Given the description of an element on the screen output the (x, y) to click on. 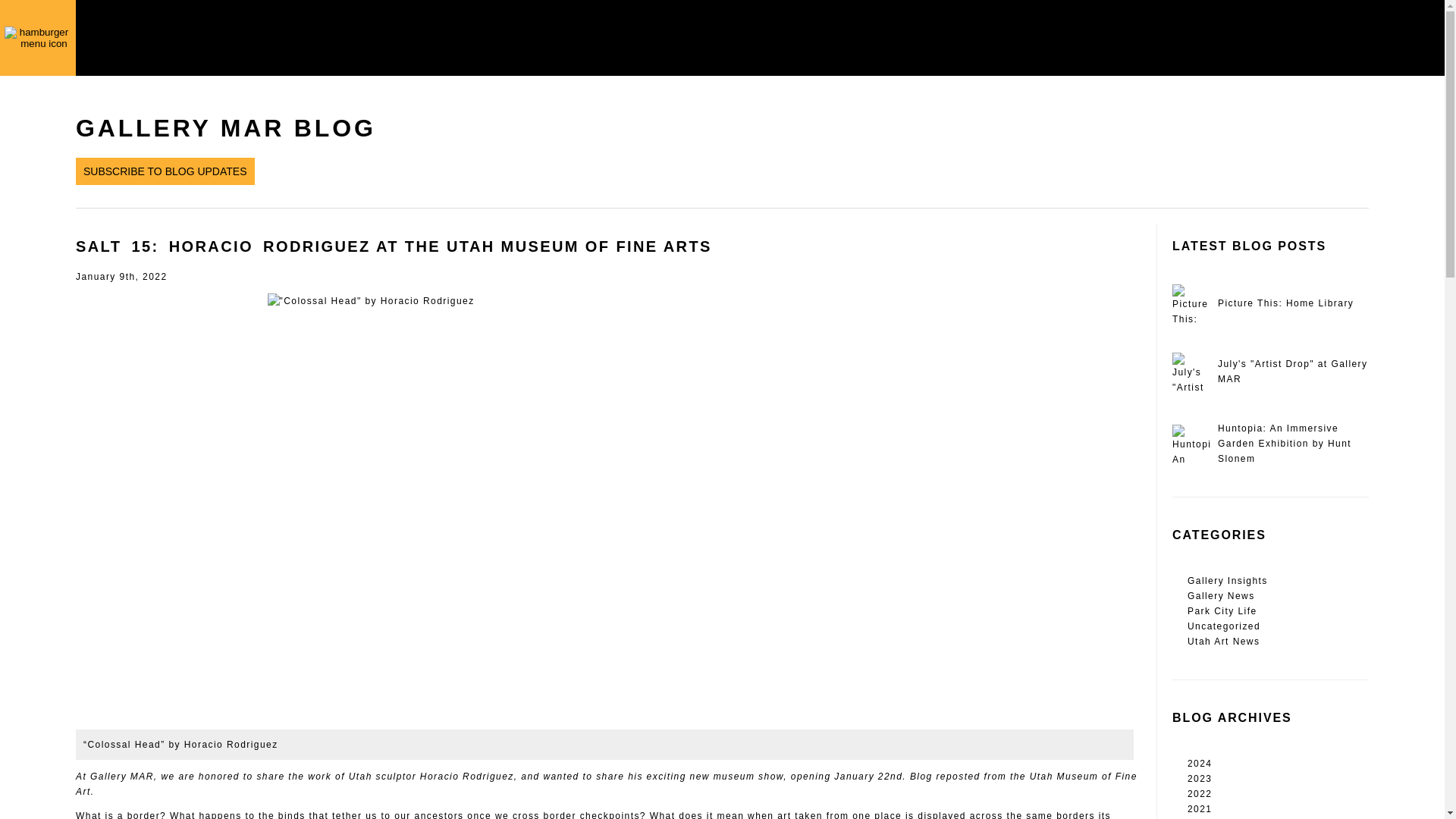
SUBSCRIBE TO BLOG UPDATES (164, 172)
SUBSCRIBE TO BLOG UPDATES (164, 171)
Huntopia: An Immersive Garden Exhibition by Hunt Slonem (1270, 443)
Gallery Insights (1278, 580)
Gallery News (1278, 595)
Picture This: Home Library (1270, 303)
Uncategorized (1278, 626)
Utah Art News (1278, 641)
GALLERY MAR (219, 37)
2022 (1278, 793)
2024 (1278, 763)
July's "Artist Drop" at Gallery MAR (1270, 371)
2023 (1278, 778)
Park City Life (1278, 611)
